Given the description of an element on the screen output the (x, y) to click on. 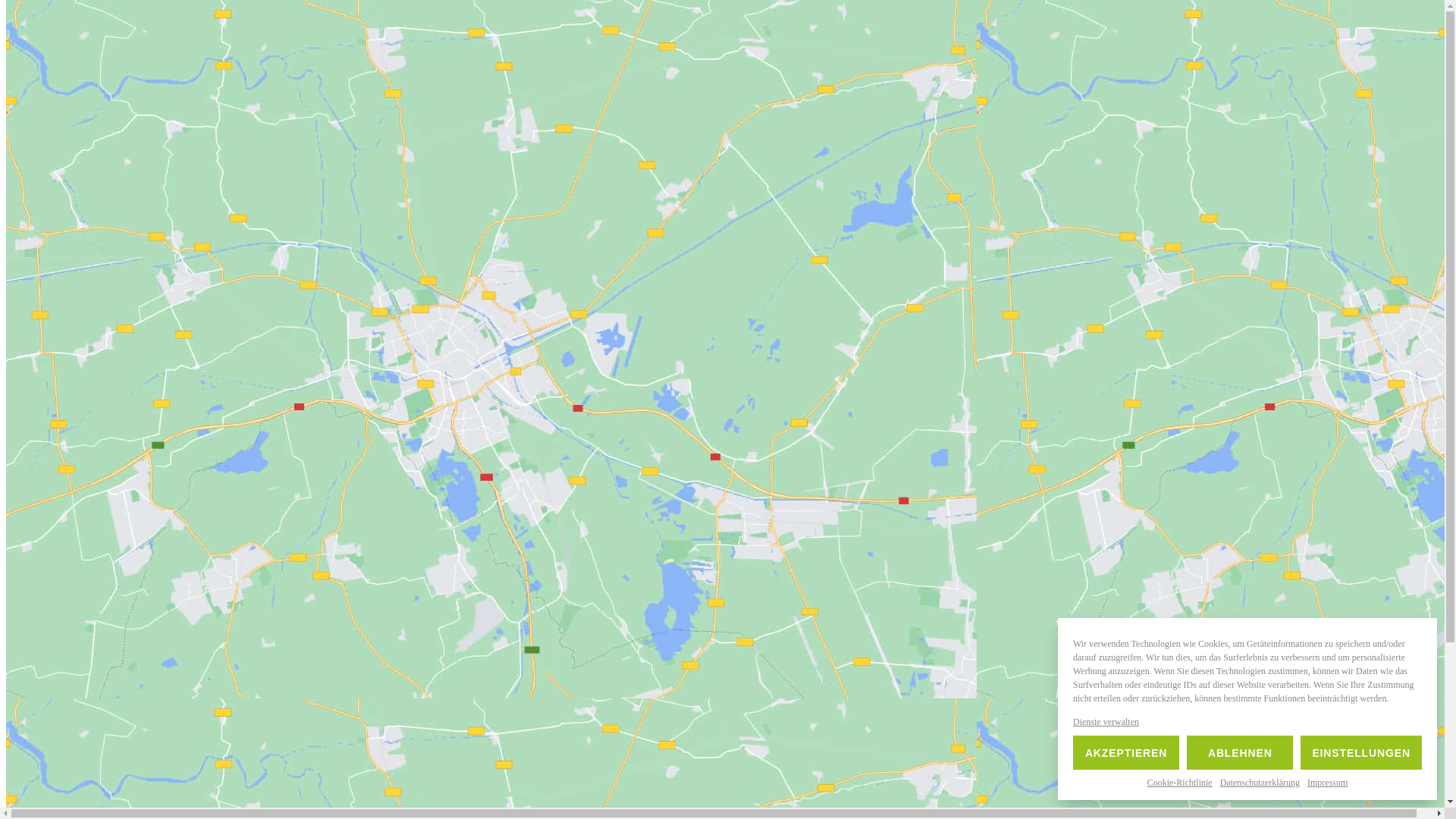
Alpiger Holzbau AG Element type: text (86, 156)
Kontakt Element type: text (55, 169)
Weiter zum Inhalt Element type: text (49, 12)
Aktuelle Projekte Element type: text (78, 128)
ABLEHNEN Element type: text (1239, 752)
Dienste verwalten Element type: text (1106, 722)
Cookie-Richtlinie Element type: text (1179, 782)
EINSTELLUNGEN Element type: text (1360, 752)
alpiger-living.ch Element type: text (46, 804)
AKZEPTIEREN Element type: text (1126, 752)
Realisierte Projekte Element type: text (83, 142)
Home Element type: text (50, 115)
Impressum Element type: text (1327, 782)
Formular Absenden Element type: text (56, 692)
